Given the description of an element on the screen output the (x, y) to click on. 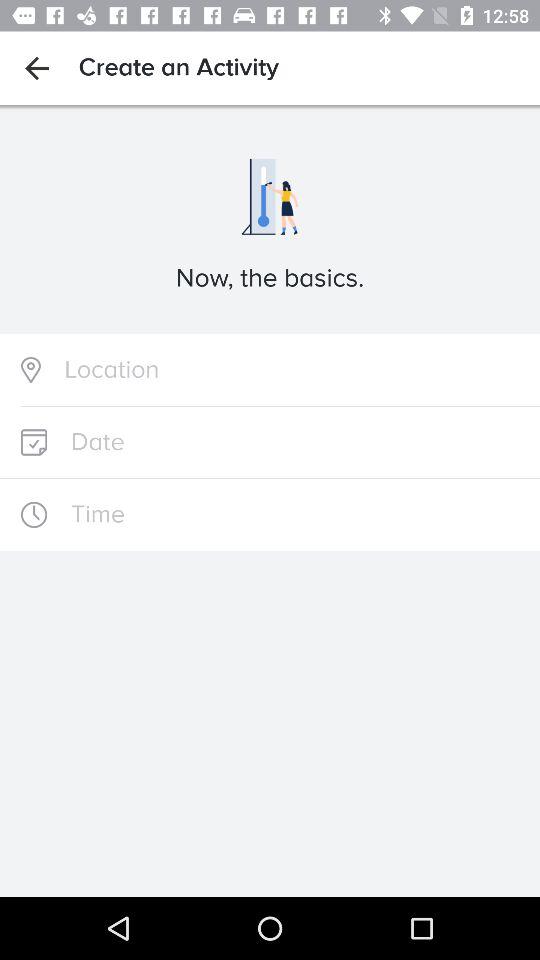
enter the date here (270, 442)
